Given the description of an element on the screen output the (x, y) to click on. 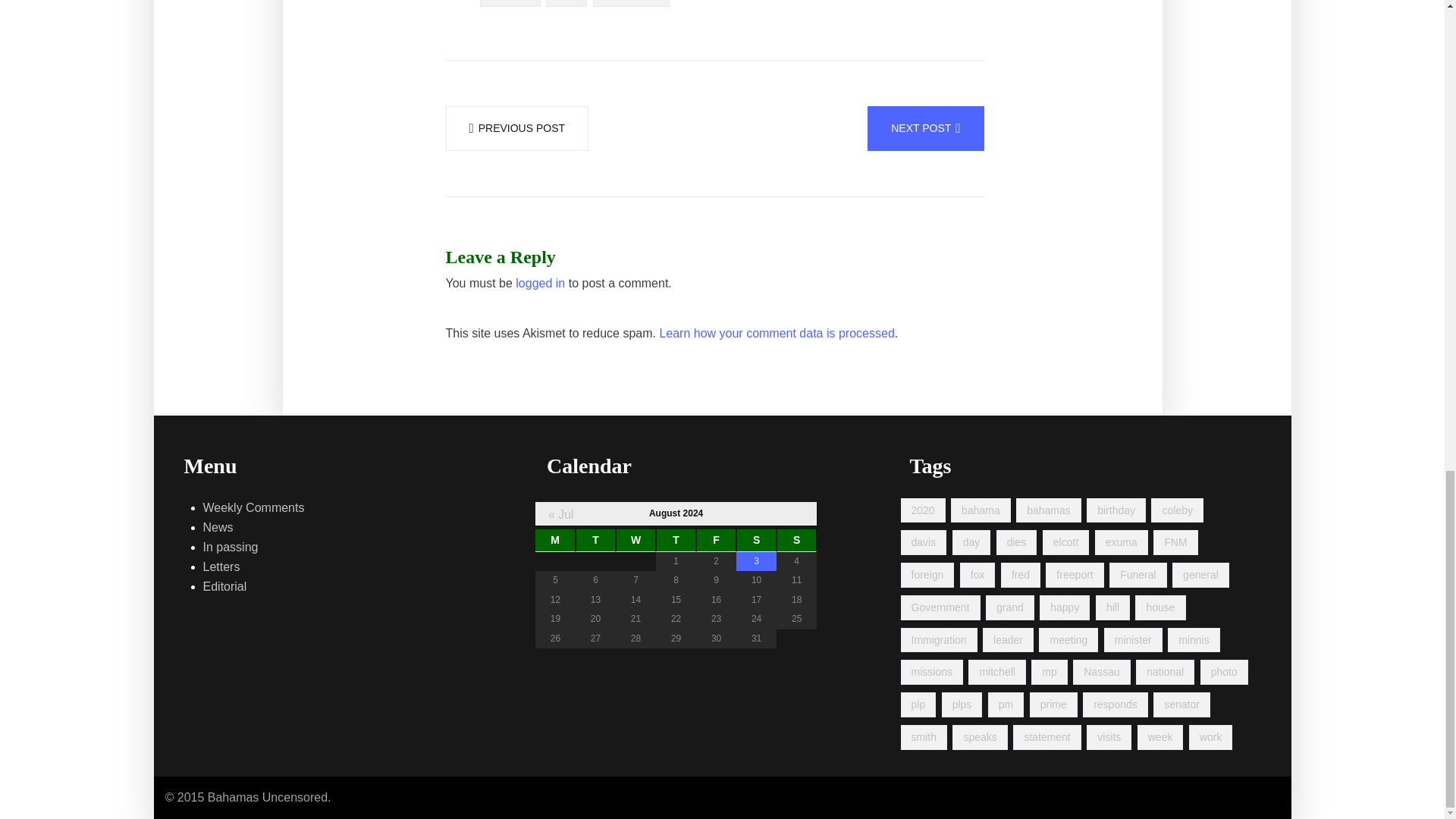
Sunday (796, 540)
elcott (1065, 542)
Learn how your comment data is processed (776, 333)
explains (510, 3)
bahamas (1048, 510)
dies (1015, 542)
2020 (922, 510)
Tuesday (595, 540)
bahama (980, 510)
In passing (231, 547)
Wednesday (635, 540)
Thursday (675, 540)
coleby (1176, 510)
News (217, 527)
Editorial (225, 587)
